Given the description of an element on the screen output the (x, y) to click on. 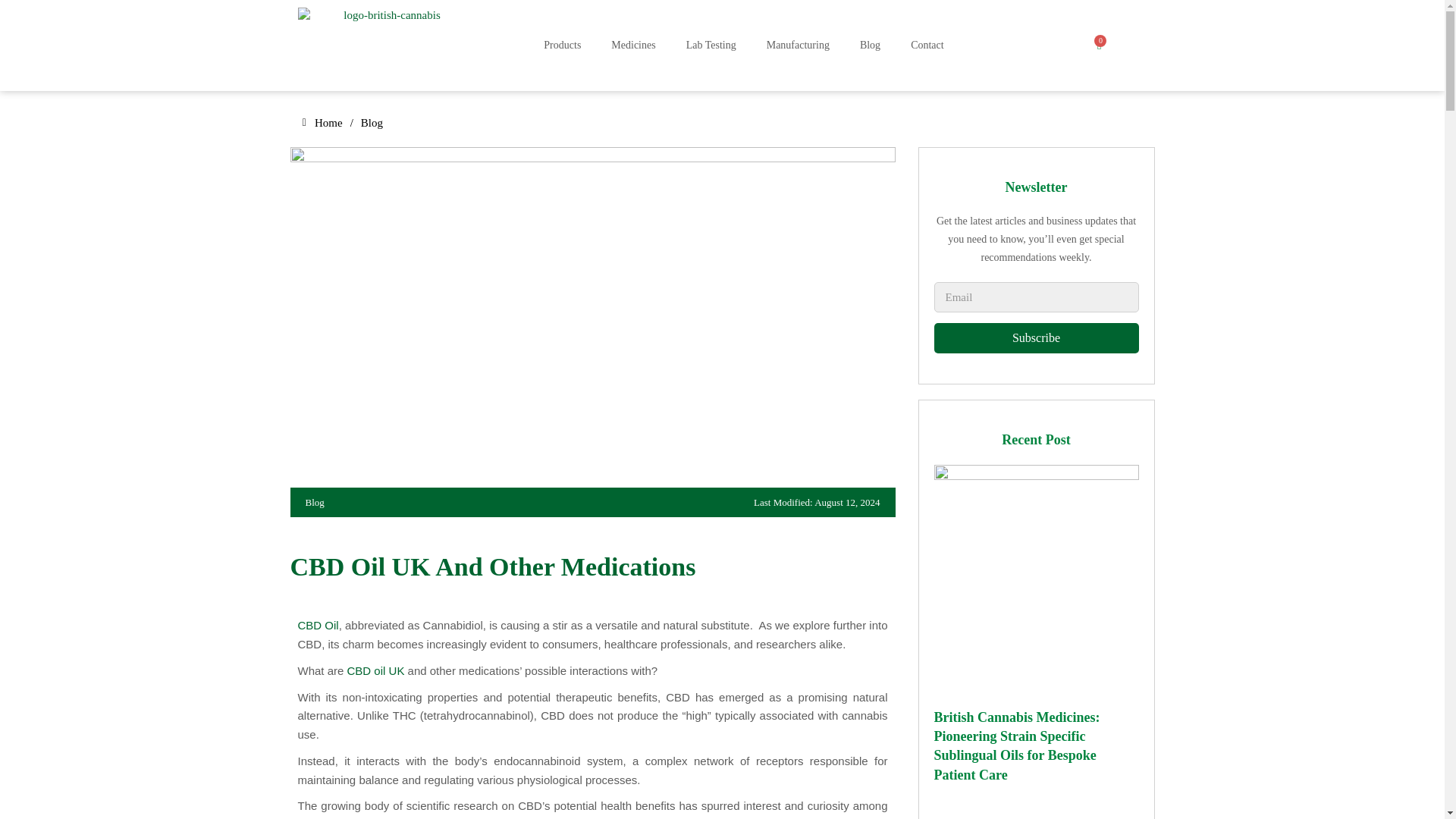
CBD Oil (317, 625)
Lab Testing (711, 45)
Medicines (632, 45)
CBD oil UK (375, 670)
Products (561, 45)
Home (319, 122)
Blog (869, 45)
Blog (371, 122)
0 (1097, 44)
Manufacturing (797, 45)
